Given the description of an element on the screen output the (x, y) to click on. 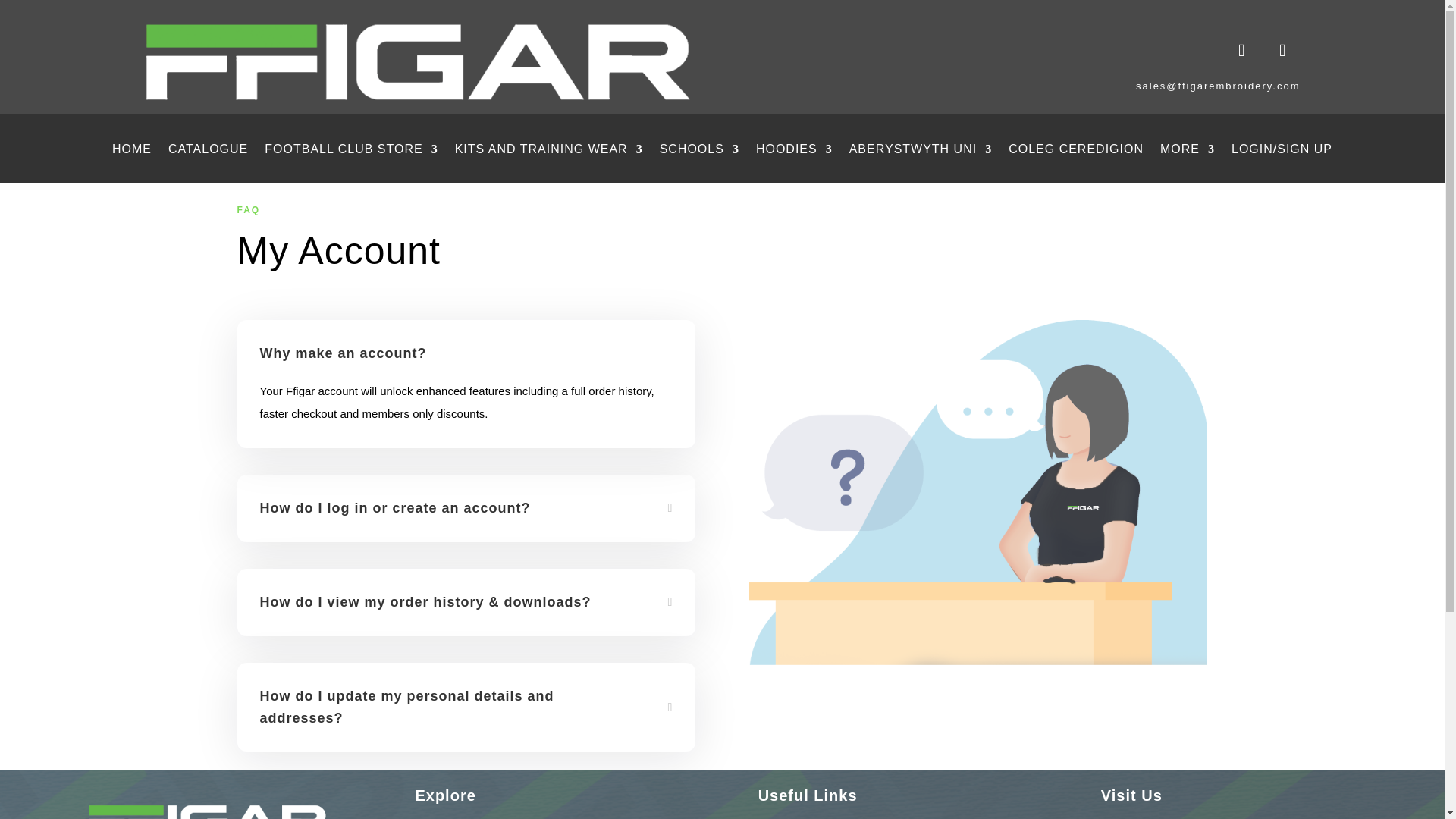
KITS AND TRAINING WEAR (548, 160)
Follow on Facebook (1241, 50)
SCHOOLS (699, 160)
FOOTBALL CLUB STORE (351, 160)
FfigarLogoOriginalWhite (417, 62)
CATALOGUE (207, 160)
Follow on X (1282, 50)
HOME (131, 160)
